Given the description of an element on the screen output the (x, y) to click on. 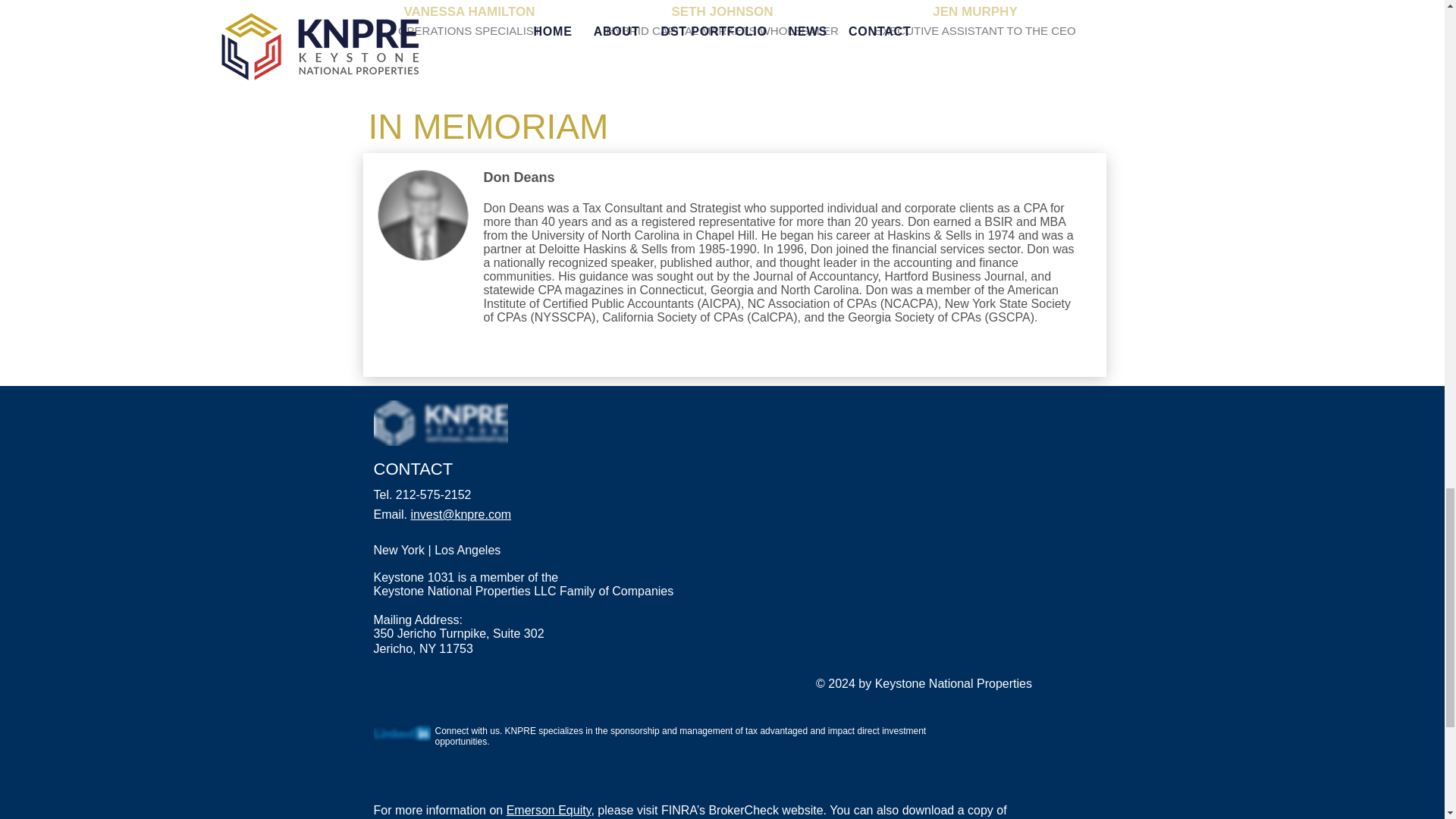
Emerson Equity (548, 809)
